Given the description of an element on the screen output the (x, y) to click on. 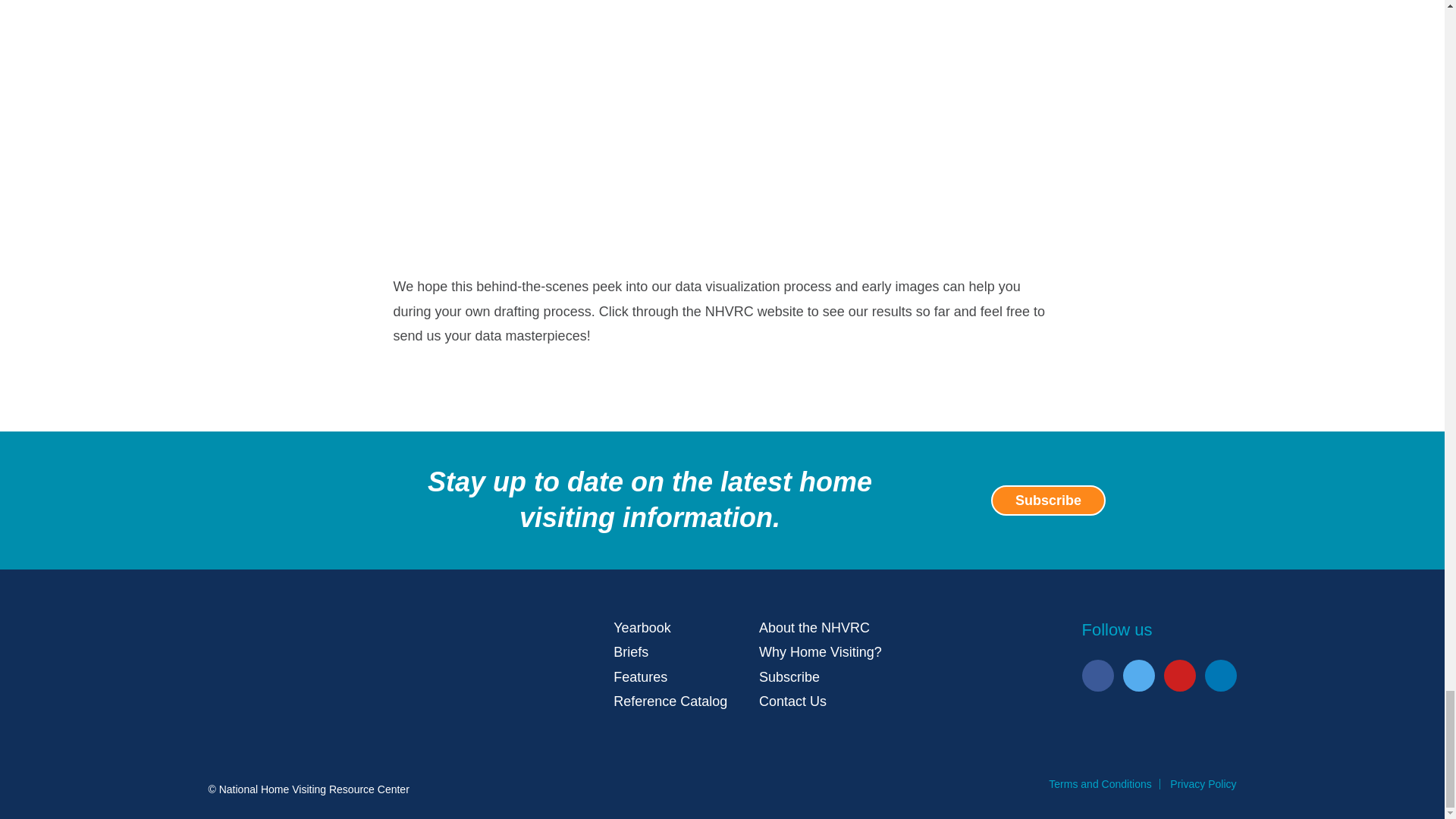
About the NHVRC (813, 627)
Briefs (629, 652)
Reference Catalog (669, 701)
Yearbook (640, 627)
Subscribe (1048, 500)
Features (639, 676)
National Home Visiting Resource Center (310, 653)
